Given the description of an element on the screen output the (x, y) to click on. 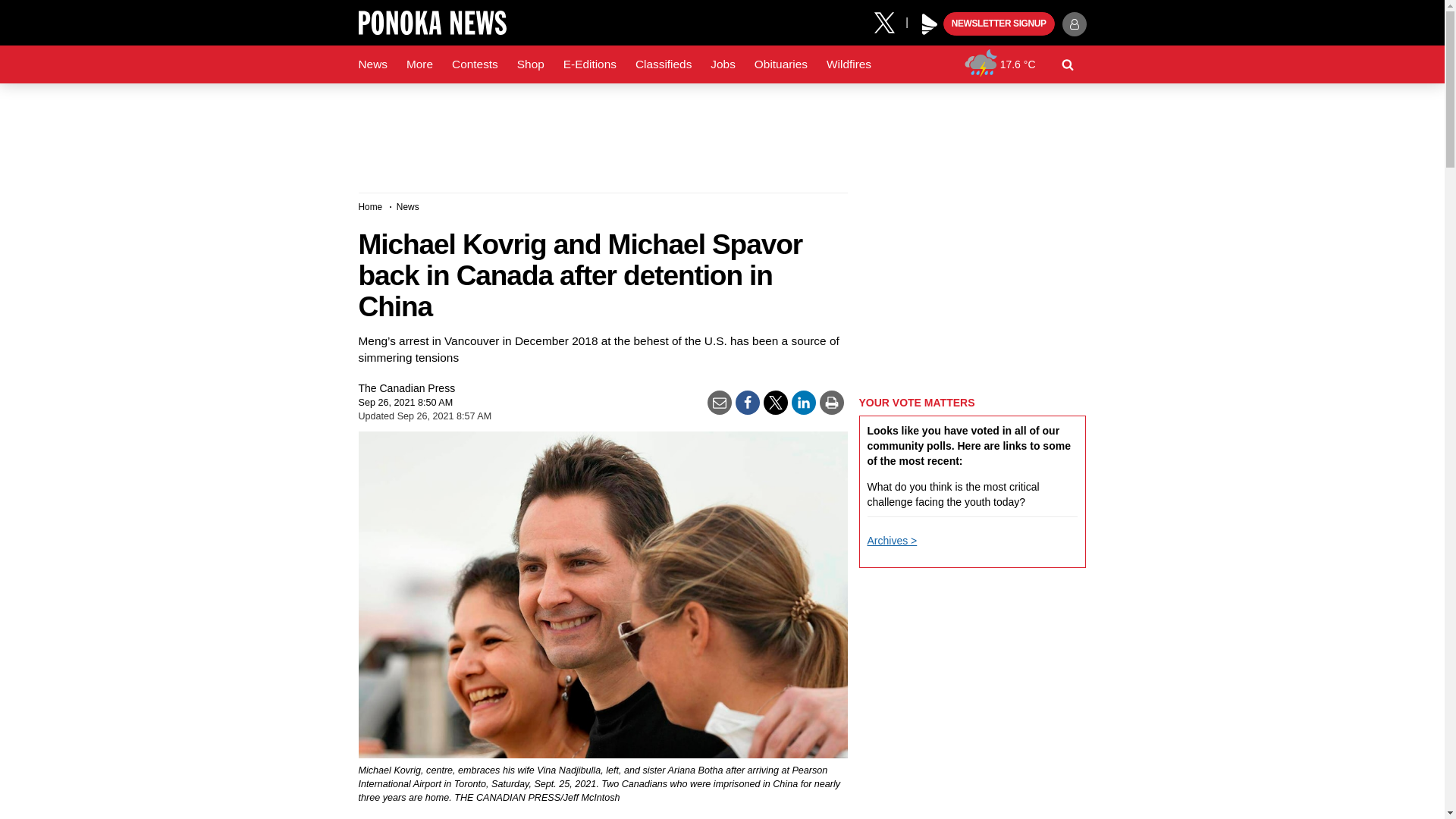
Play (929, 24)
News (372, 64)
X (889, 21)
Black Press Media (929, 24)
NEWSLETTER SIGNUP (998, 24)
